Given the description of an element on the screen output the (x, y) to click on. 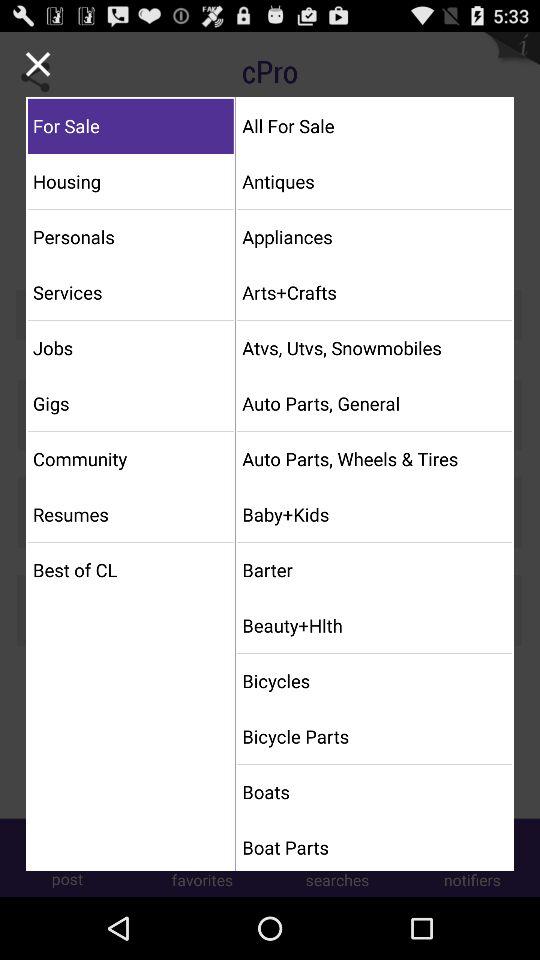
swipe until arts+crafts app (374, 292)
